Given the description of an element on the screen output the (x, y) to click on. 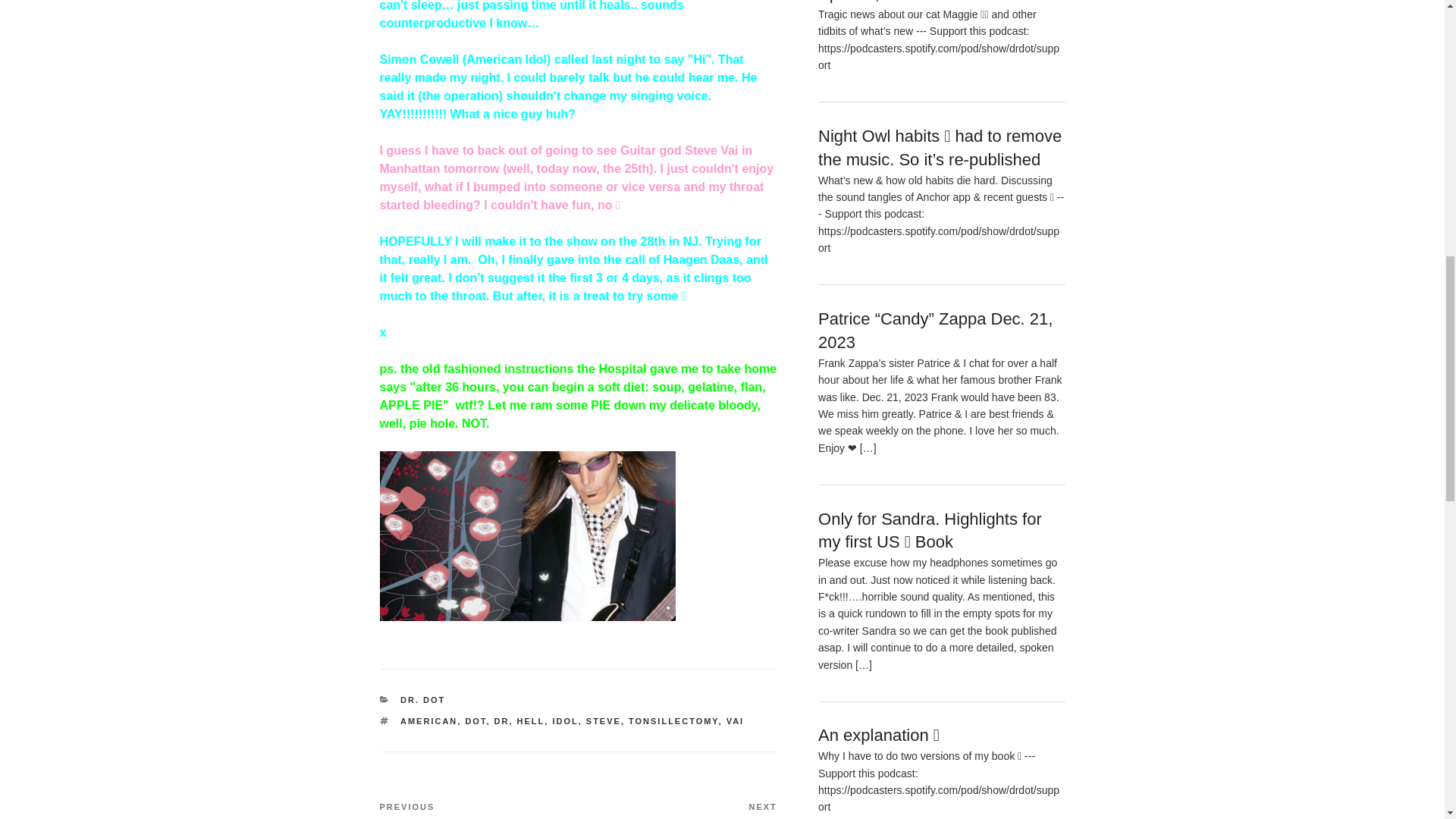
AMERICAN (428, 720)
April 29, 2024 check in (902, 1)
HELL (530, 720)
DOT (475, 720)
IDOL (478, 809)
STEVE (564, 720)
TONSILLECTOMY (603, 720)
VAI (673, 720)
DR. DOT (735, 720)
